Given the description of an element on the screen output the (x, y) to click on. 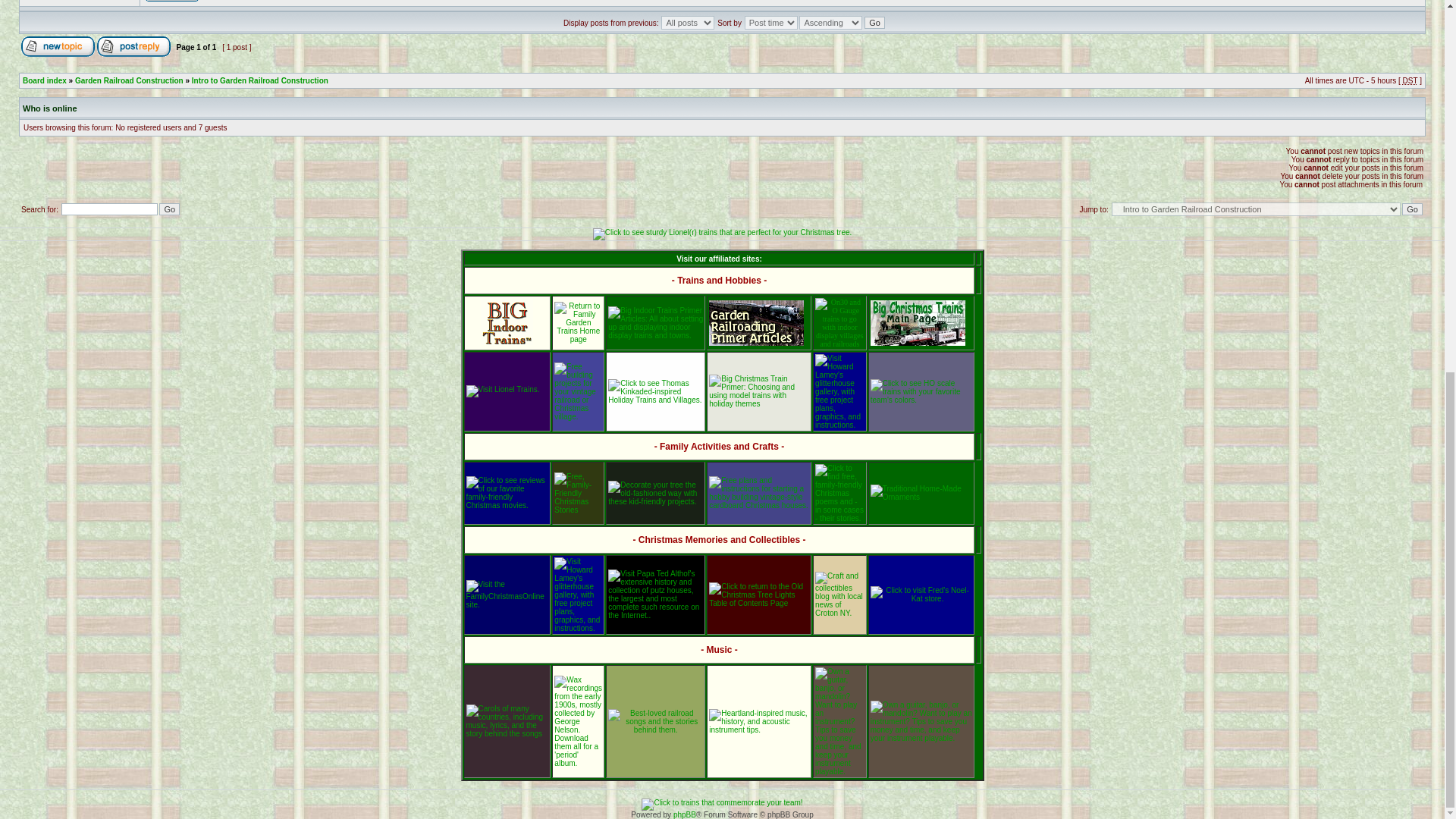
Board index (44, 80)
Go (168, 209)
Go (874, 22)
Intro to Garden Railroad Construction (260, 80)
Profile (171, 1)
Reply to topic (133, 46)
Daylight Saving Time (1410, 80)
Go (1412, 209)
Go (874, 22)
Garden Railroad Construction (129, 80)
Post new topic (57, 46)
Go (168, 209)
Go (1412, 209)
